Given the description of an element on the screen output the (x, y) to click on. 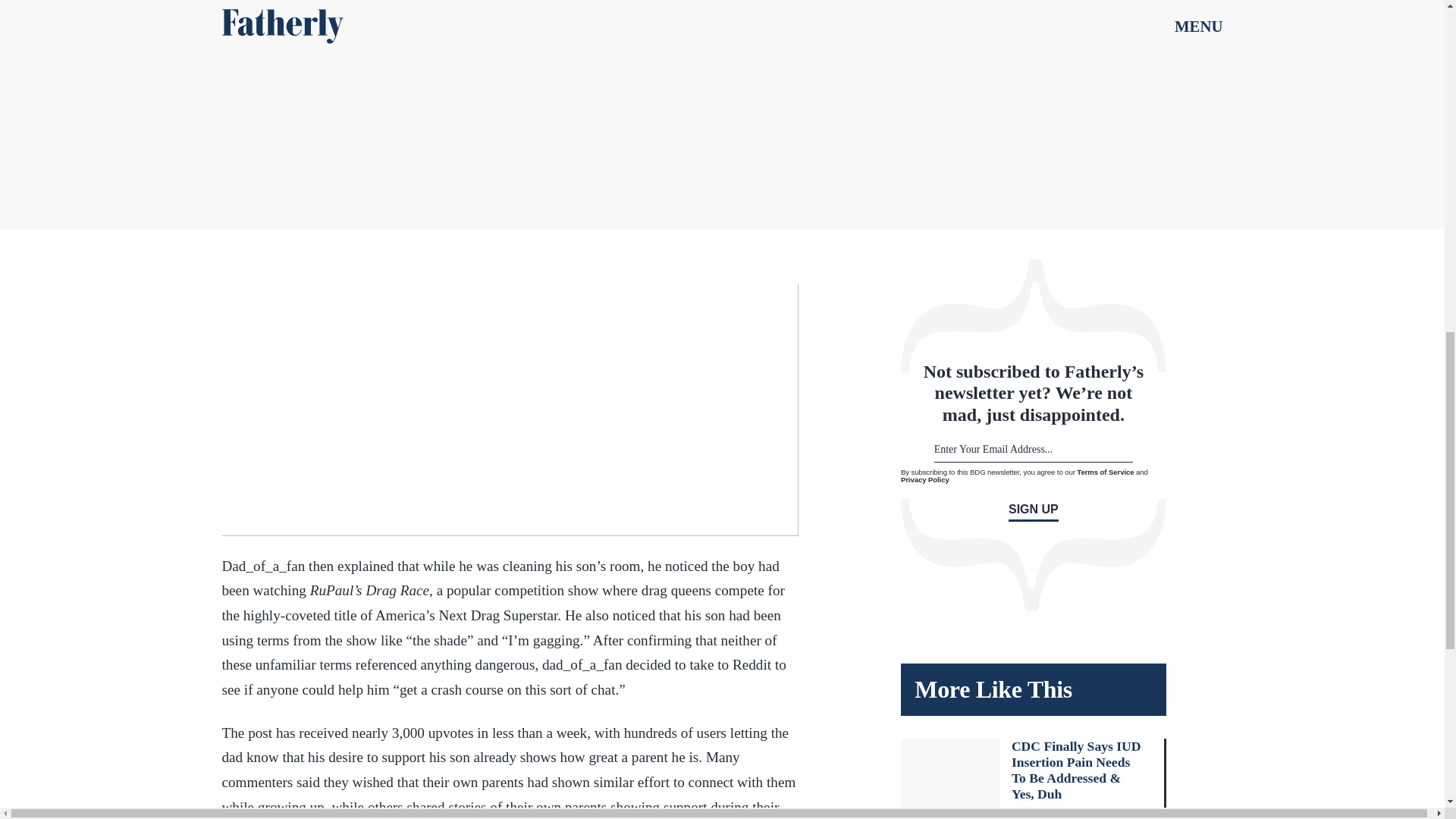
Terms of Service (1105, 471)
SIGN UP (1033, 511)
Privacy Policy (925, 479)
